Given the description of an element on the screen output the (x, y) to click on. 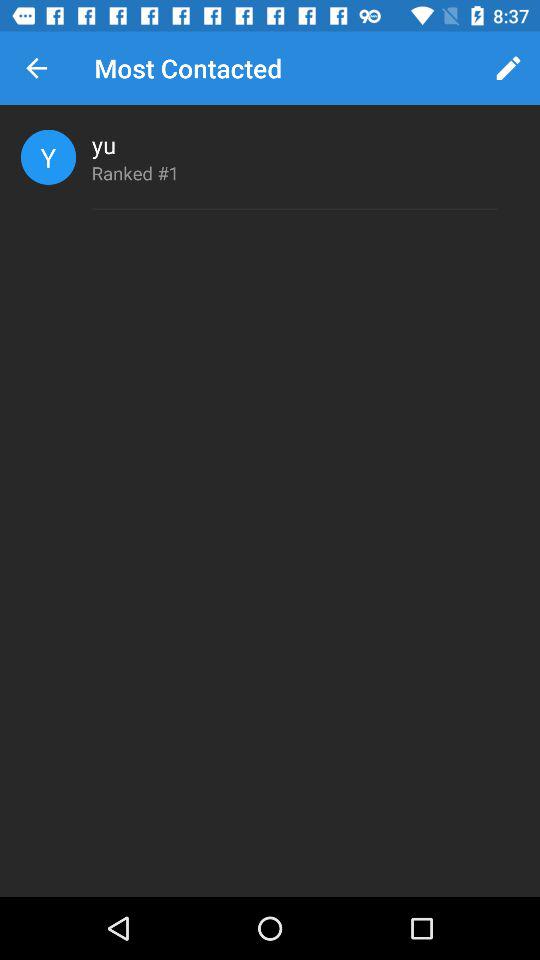
press the item next to yu icon (48, 156)
